Given the description of an element on the screen output the (x, y) to click on. 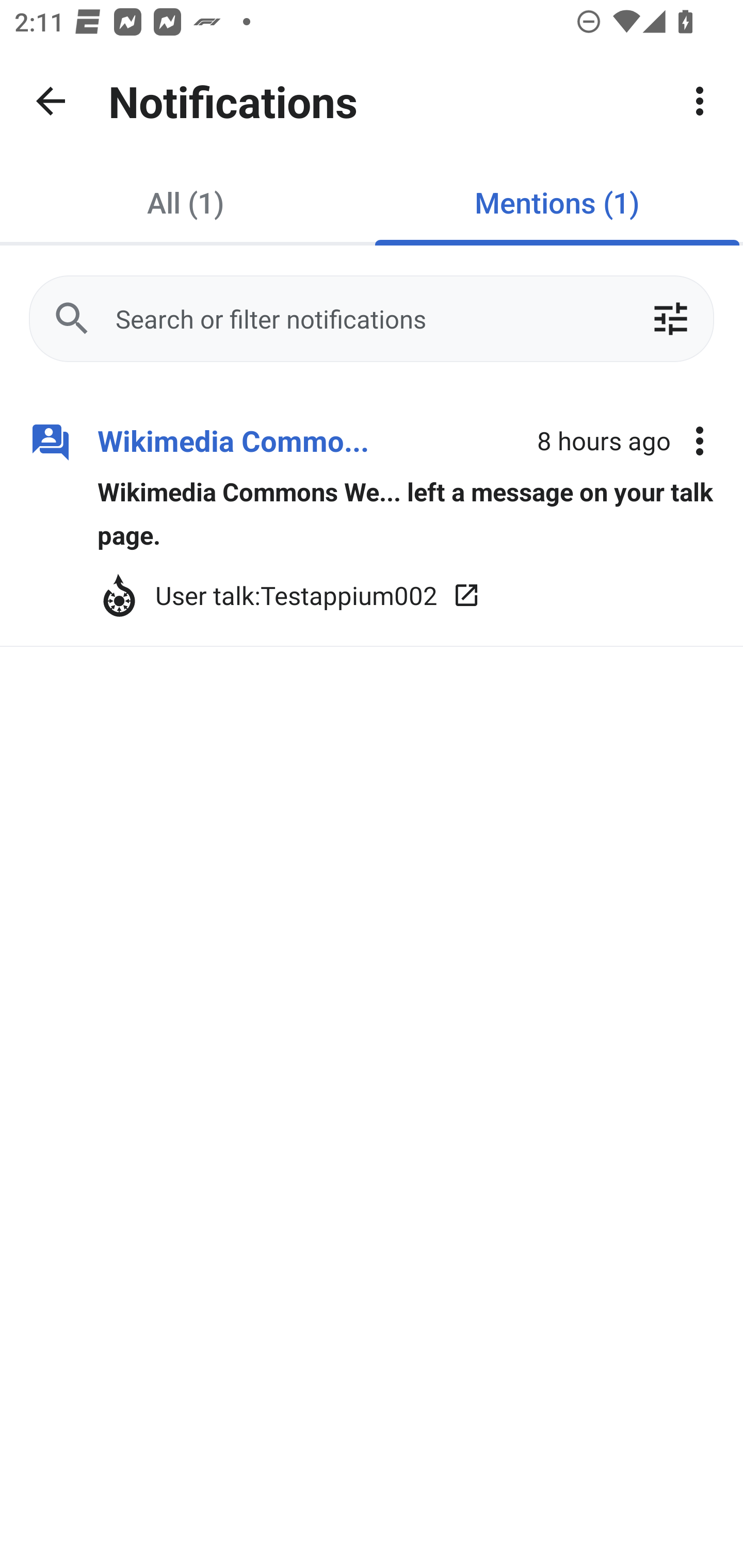
Navigate up (50, 101)
More (699, 101)
All (1) (185, 202)
Notification filter (670, 318)
More options (699, 441)
